Given the description of an element on the screen output the (x, y) to click on. 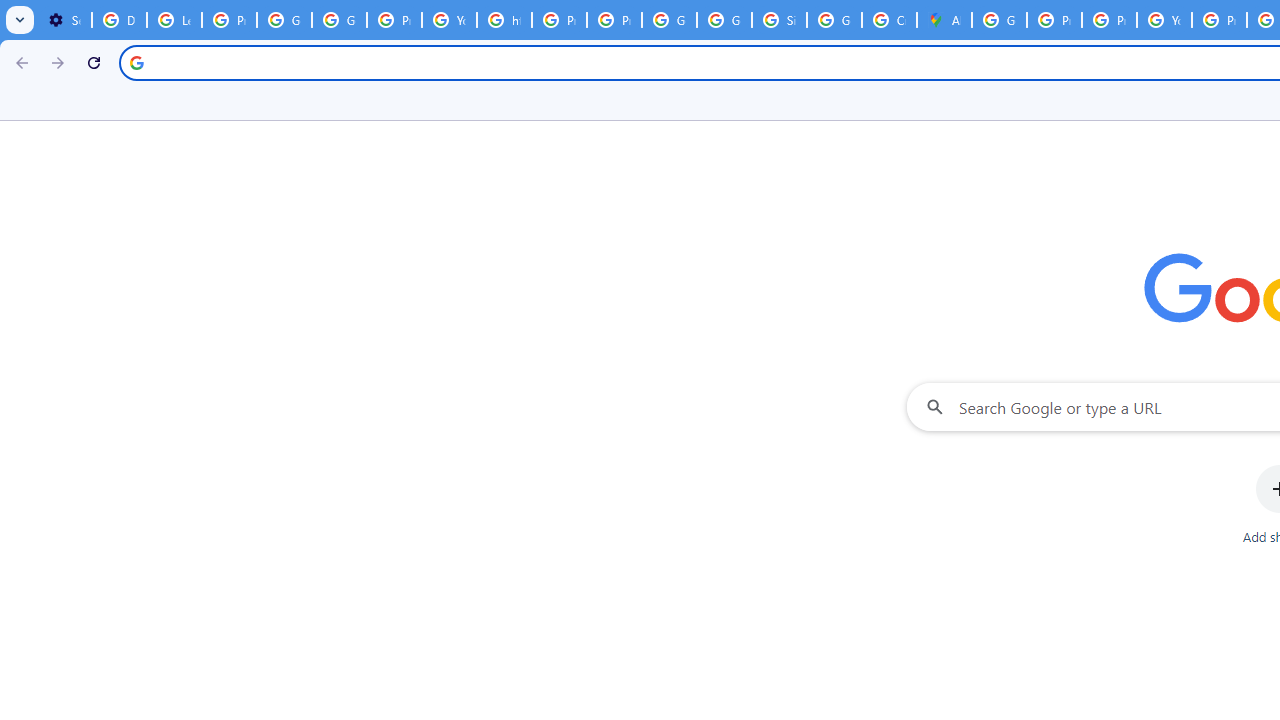
Privacy Help Center - Policies Help (1053, 20)
https://scholar.google.com/ (504, 20)
Sign in - Google Accounts (779, 20)
YouTube (449, 20)
YouTube (1163, 20)
